Given the description of an element on the screen output the (x, y) to click on. 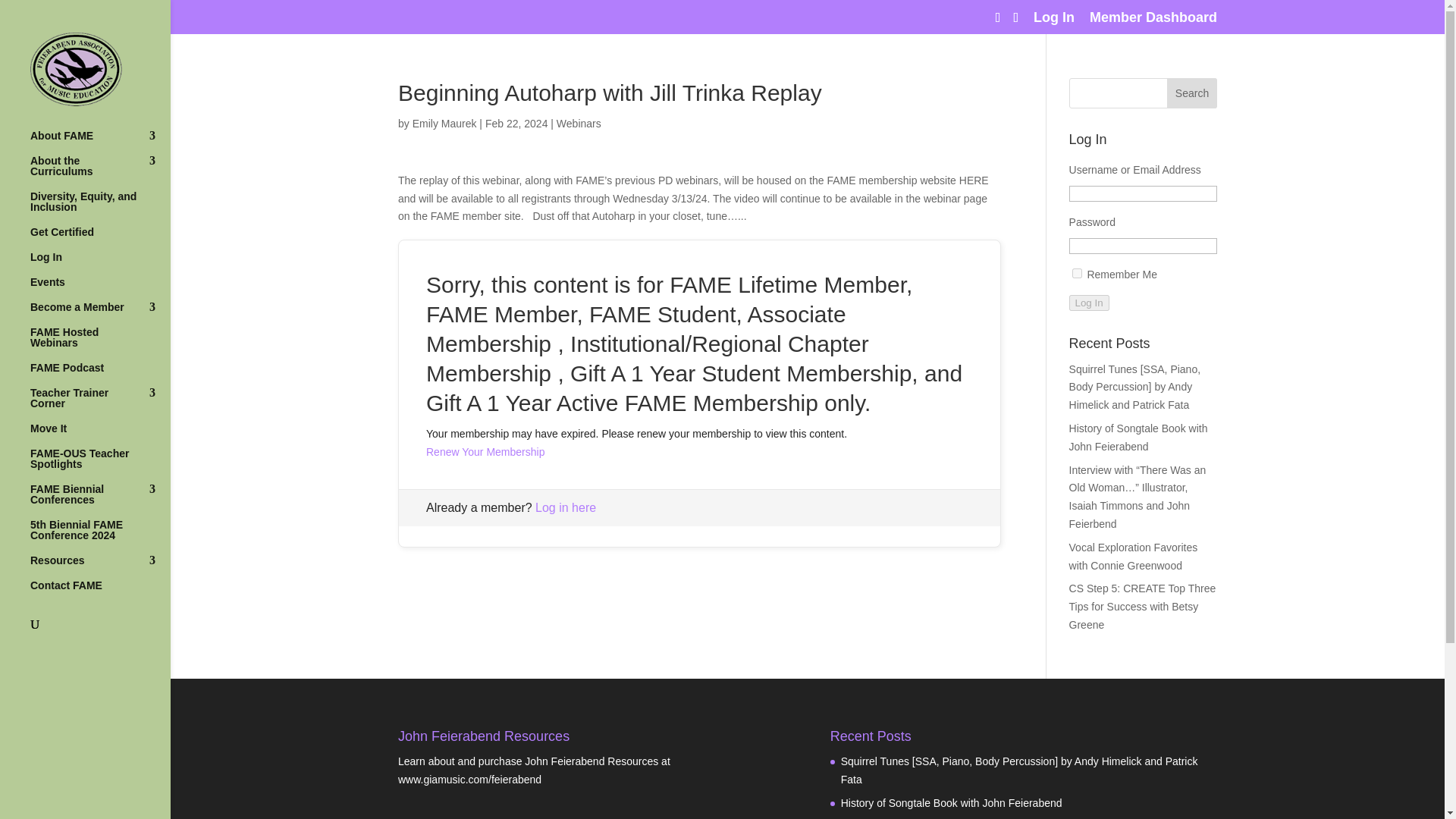
Get Certified (100, 238)
Search (1192, 92)
Become a Member (100, 314)
FAME Hosted Webinars (100, 344)
FAME Podcast (100, 374)
Teacher Trainer Corner (100, 405)
Log In (100, 263)
Move It (100, 435)
FAME Biennial Conferences (100, 501)
FAME-OUS Teacher Spotlights (100, 465)
